Given the description of an element on the screen output the (x, y) to click on. 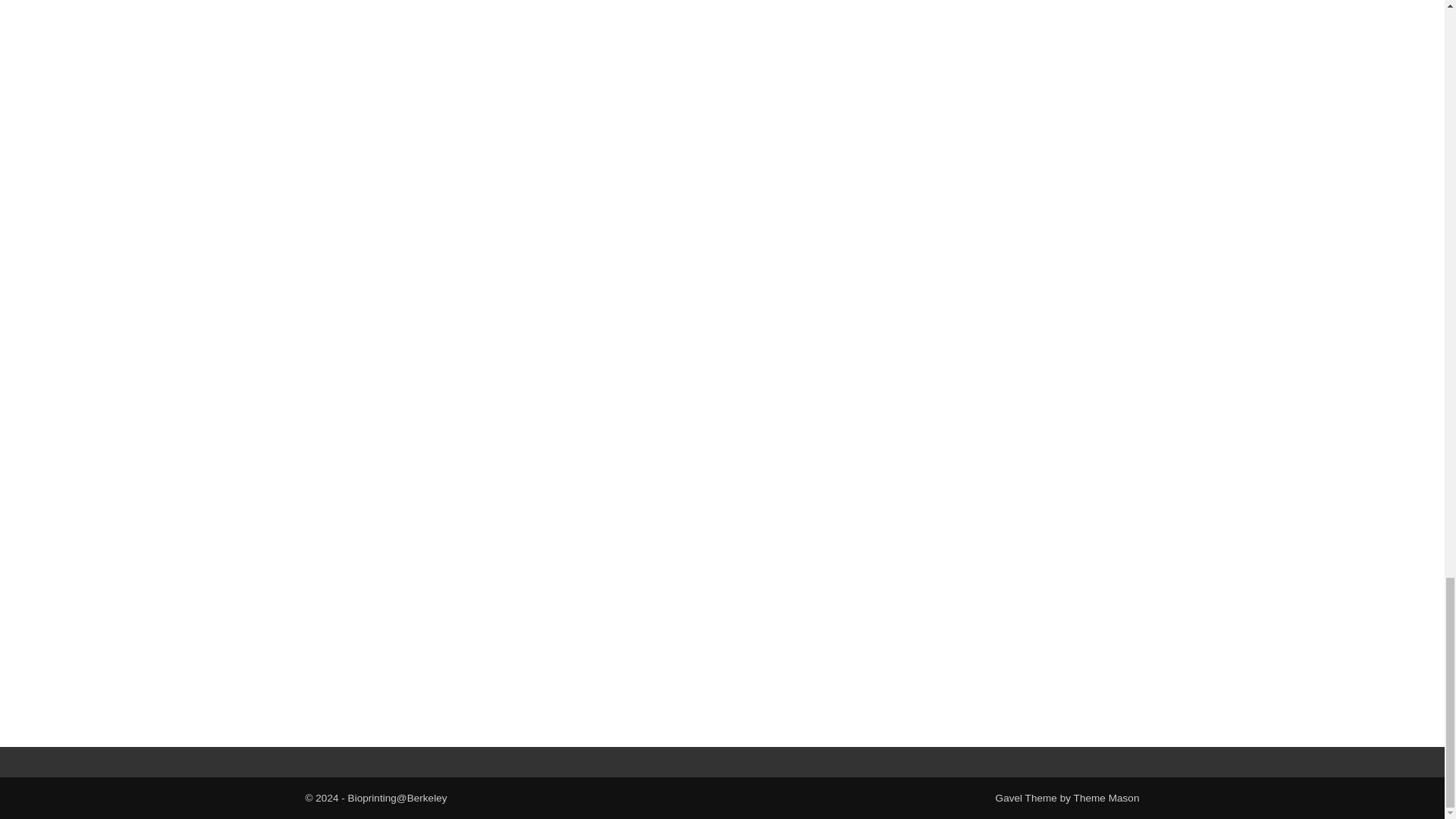
Gavel Theme (1026, 797)
Gavel Theme (1026, 797)
